Given the description of an element on the screen output the (x, y) to click on. 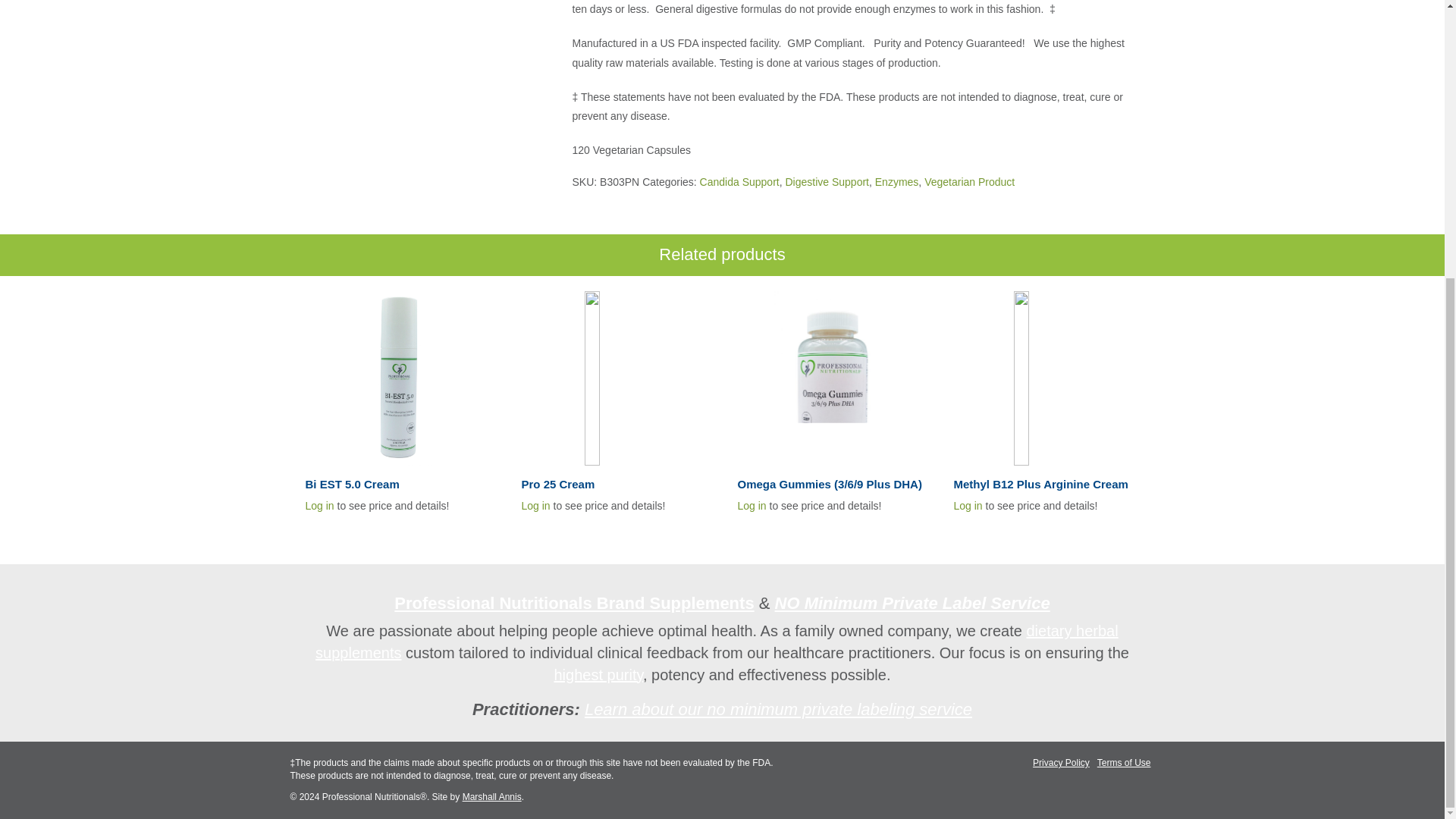
Enzymes (896, 182)
Log in (318, 505)
Professional Nutritionals Brand Supplements (574, 602)
Candida Support (739, 182)
Log in (535, 505)
Log in (750, 505)
Vegetarian Product (969, 182)
NO Minimum Private Label Service (911, 602)
Digestive Support (826, 182)
Log in (967, 505)
